Given the description of an element on the screen output the (x, y) to click on. 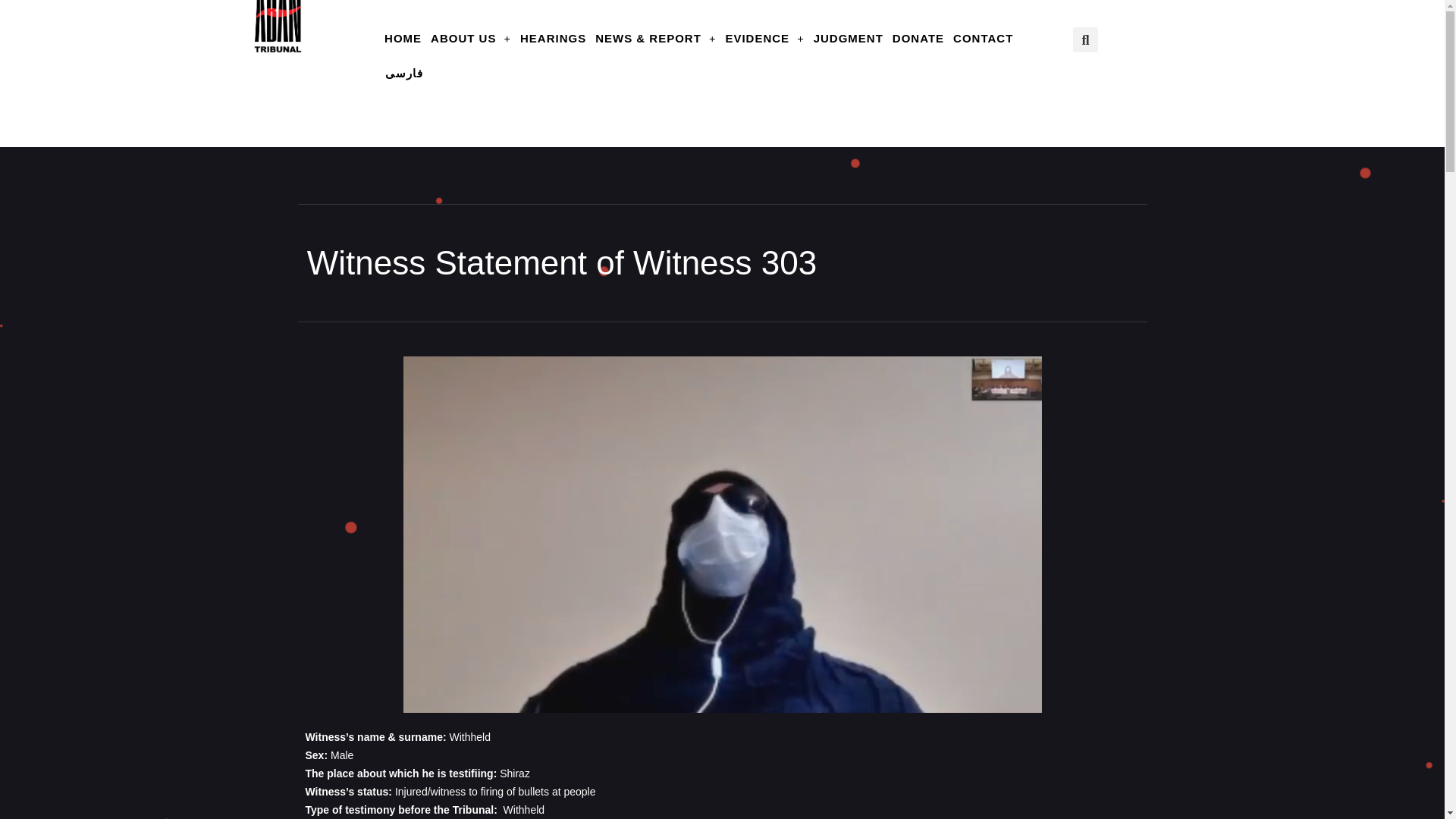
ABOUT US (470, 38)
JUDGMENT (847, 38)
DONATE (917, 38)
 Witness Statement of Witness 303 (556, 262)
CONTACT (982, 38)
HOME (402, 38)
EVIDENCE (764, 38)
HEARINGS (552, 38)
